Given the description of an element on the screen output the (x, y) to click on. 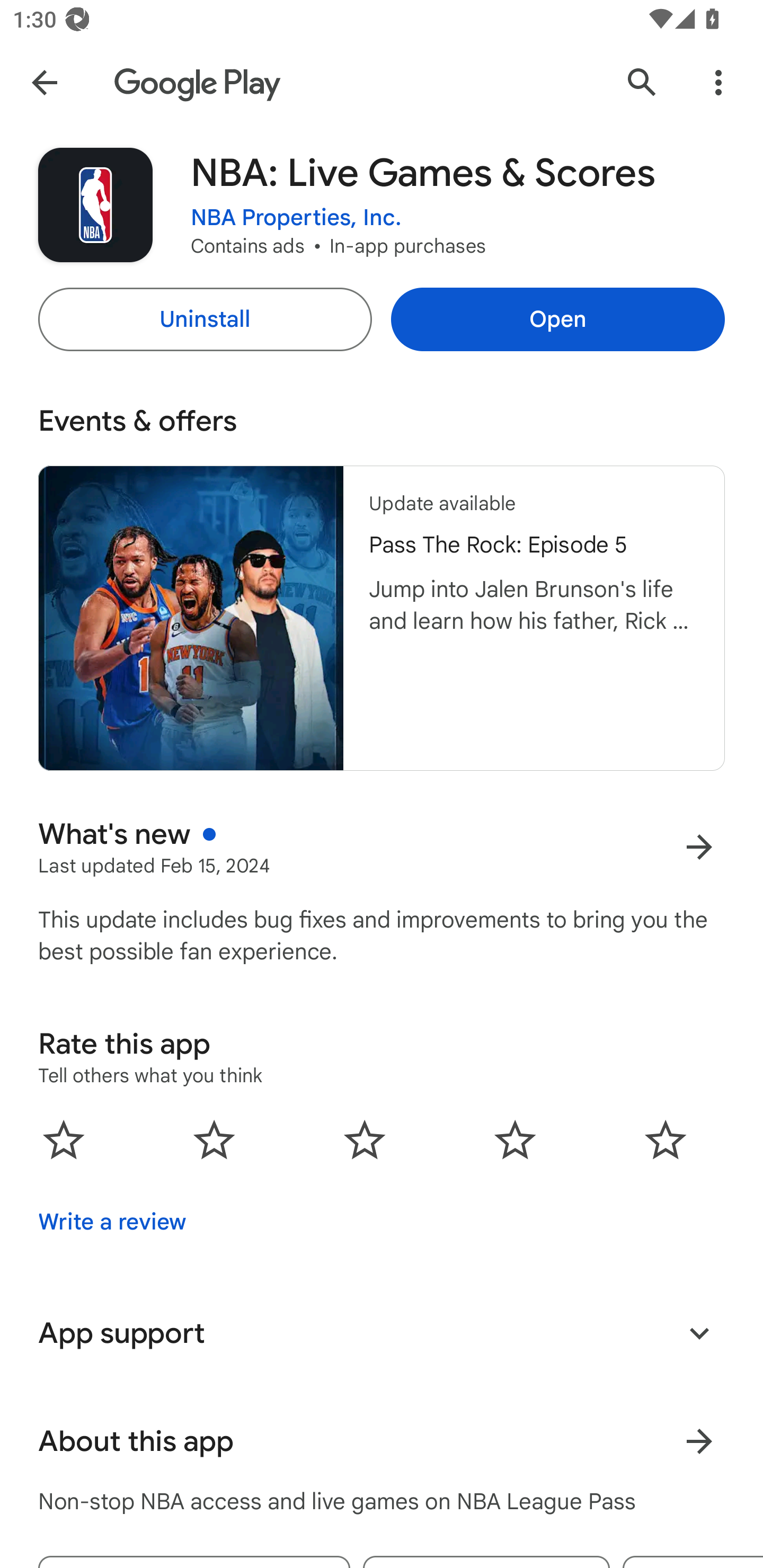
Navigate up (44, 81)
Search Google Play (642, 81)
More Options (718, 81)
NBA Properties, Inc. (295, 217)
Uninstall (205, 318)
Open (557, 318)
More results for What's new (699, 847)
0.0 (364, 1138)
Write a review (112, 1221)
App support Expand (381, 1333)
Expand (699, 1333)
About this app Learn more About this app (381, 1441)
Learn more About this app (699, 1441)
